Given the description of an element on the screen output the (x, y) to click on. 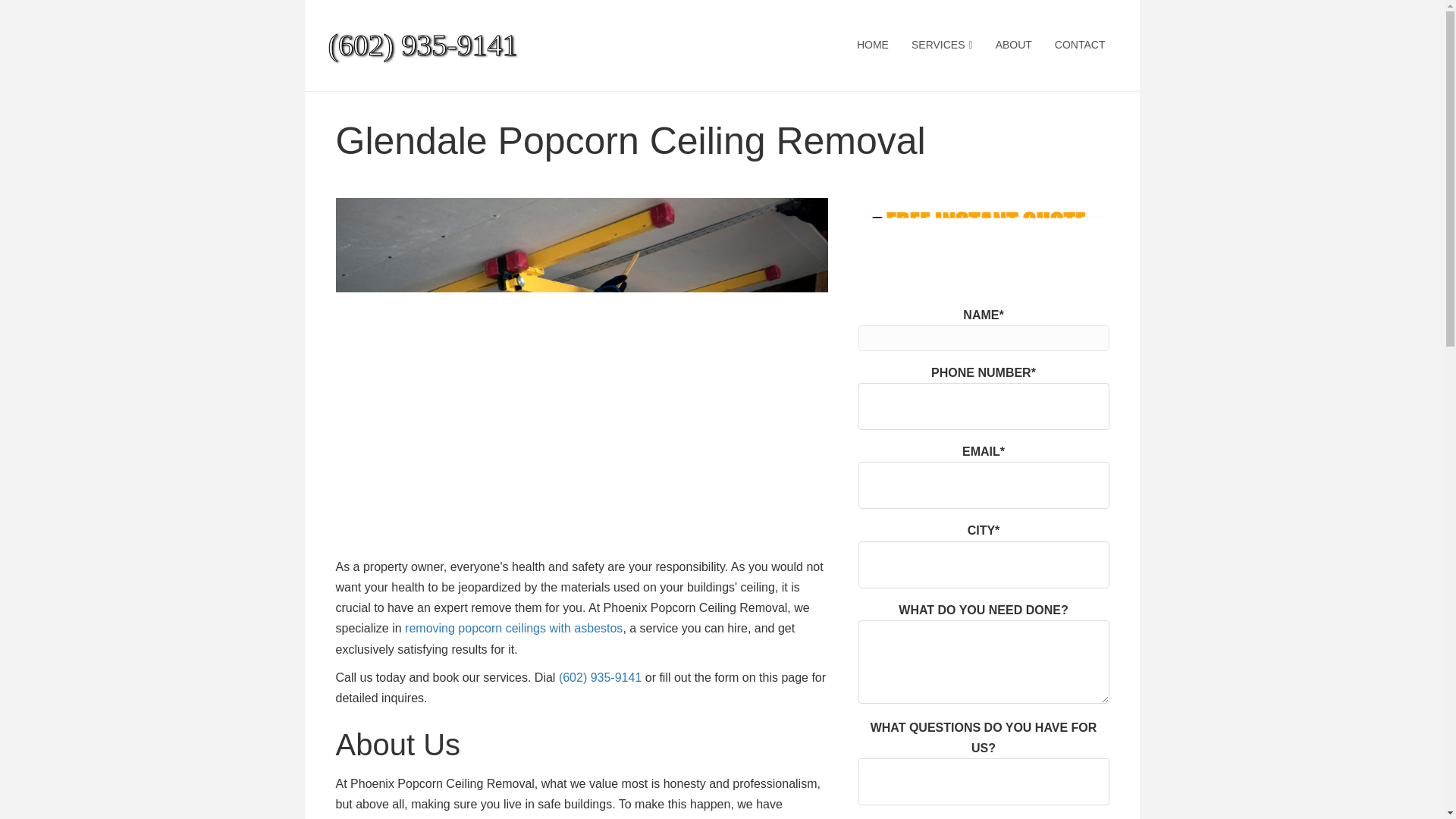
removing popcorn ceilings with asbestos (513, 627)
SERVICES (941, 45)
HOME (872, 45)
CONTACT (1079, 45)
ABOUT (1013, 45)
BannerOrange (984, 236)
